Given the description of an element on the screen output the (x, y) to click on. 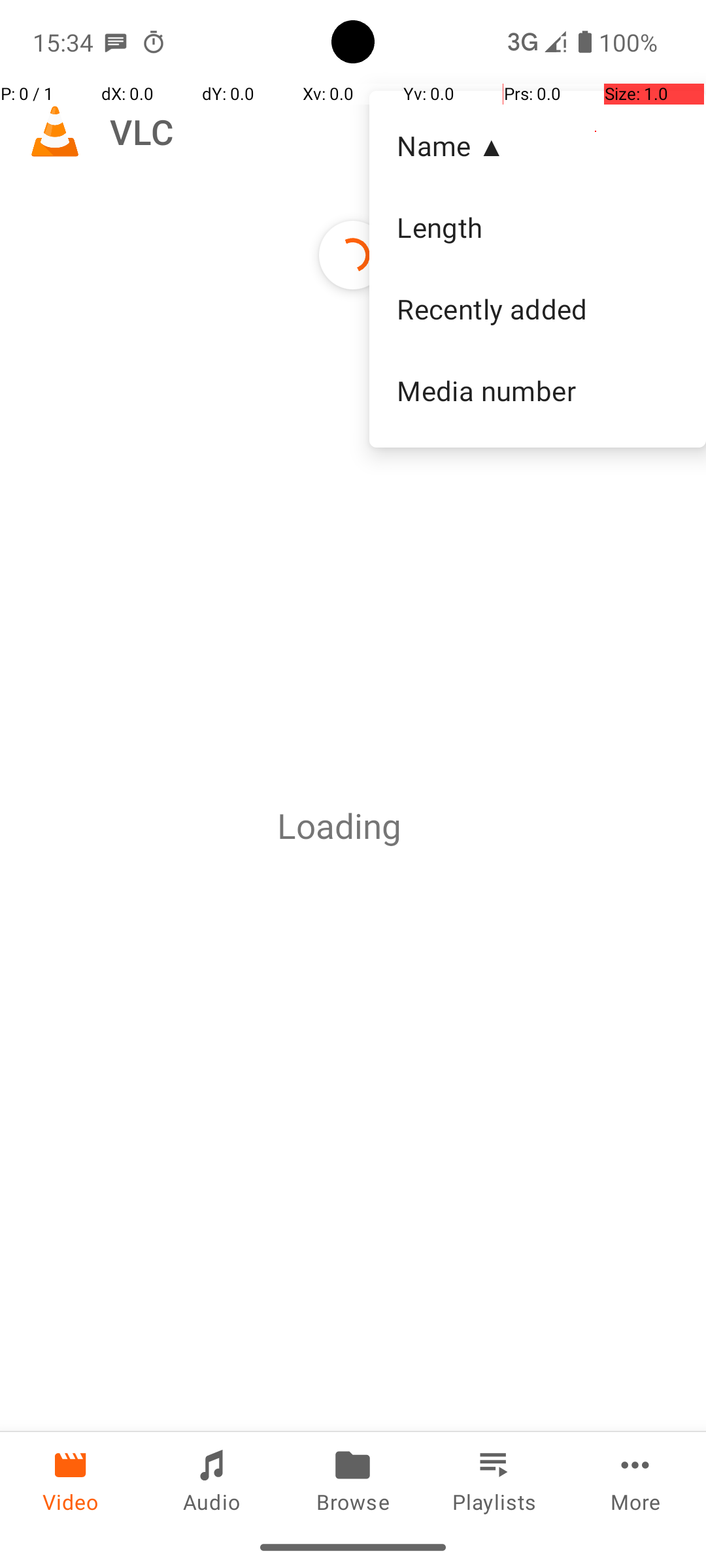
Name. Ascending Element type: android.widget.LinearLayout (537, 145)
Length Element type: android.widget.LinearLayout (537, 227)
Recently added Element type: android.widget.LinearLayout (537, 308)
Name ▲ Element type: android.widget.TextView (537, 145)
Media number Element type: android.widget.TextView (537, 389)
